Given the description of an element on the screen output the (x, y) to click on. 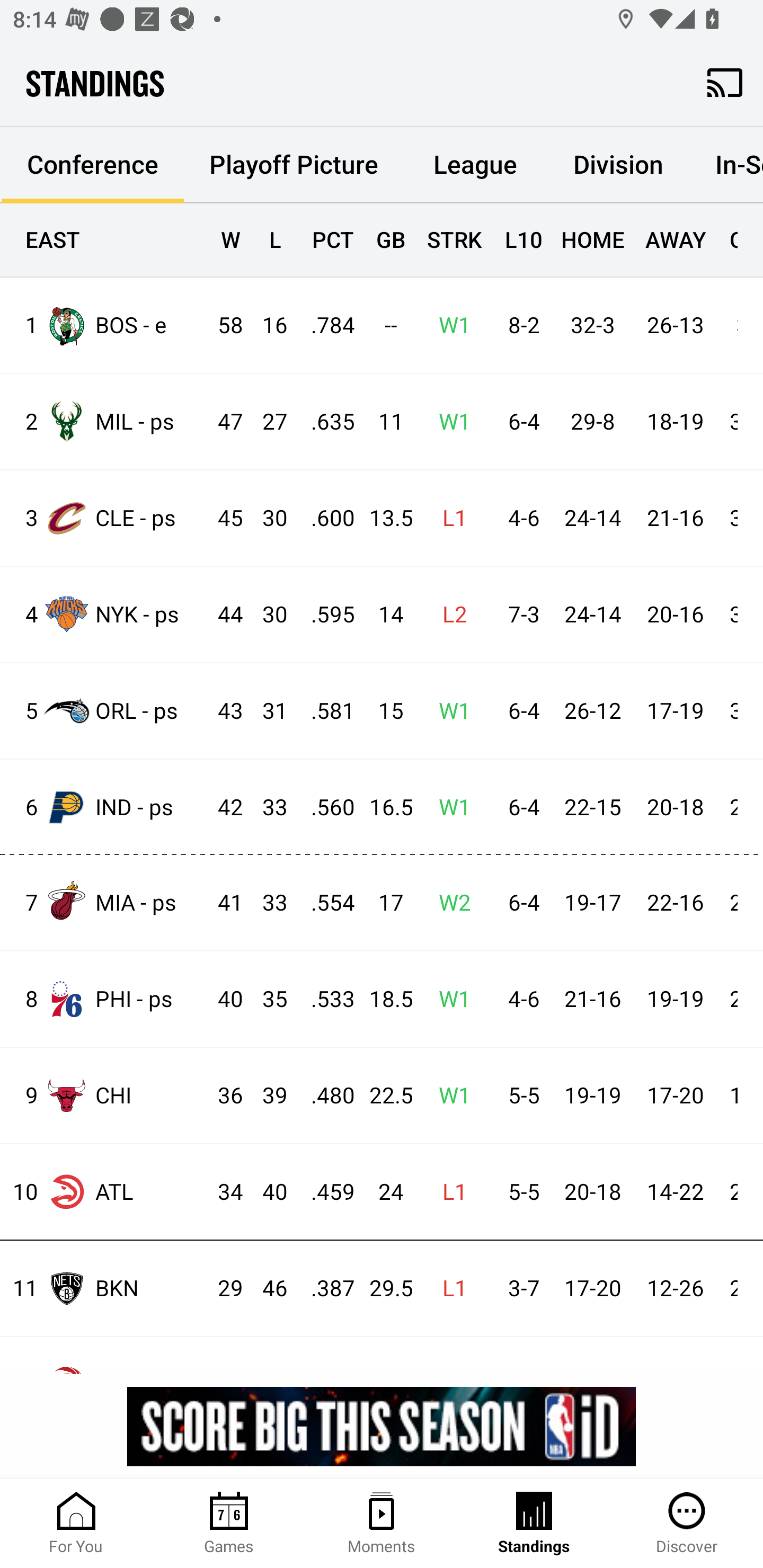
Cast. Disconnected (724, 82)
Playoff Picture (293, 165)
League (475, 165)
Division (618, 165)
1 BOS - e (104, 325)
16 (265, 324)
.784 (323, 324)
-- (382, 324)
W1 (449, 324)
8-2 (518, 324)
32-3 (592, 324)
26-13 (675, 324)
2 MIL - ps (104, 421)
27 (265, 422)
.635 (323, 422)
11 (382, 422)
W1 (449, 422)
6-4 (518, 422)
29-8 (592, 422)
18-19 (675, 422)
3 CLE - ps (104, 518)
30 (265, 517)
.600 (323, 517)
13.5 (382, 517)
L1 (449, 517)
4-6 (518, 517)
24-14 (592, 517)
21-16 (675, 517)
4 NYK - ps (104, 613)
30 (265, 615)
.595 (323, 615)
14 (382, 615)
L2 (449, 615)
7-3 (518, 615)
24-14 (592, 615)
20-16 (675, 615)
5 ORL - ps (104, 710)
31 (265, 710)
.581 (323, 710)
15 (382, 710)
W1 (449, 710)
6-4 (518, 710)
26-12 (592, 710)
17-19 (675, 710)
6 IND - ps (104, 806)
33 (265, 807)
.560 (323, 807)
16.5 (382, 807)
W1 (449, 807)
6-4 (518, 807)
22-15 (592, 807)
20-18 (675, 807)
7 MIA - ps (104, 902)
33 (265, 902)
.554 (323, 902)
17 (382, 902)
W2 (449, 902)
6-4 (518, 902)
19-17 (592, 902)
22-16 (675, 902)
8 PHI - ps (104, 999)
35 (265, 999)
.533 (323, 999)
18.5 (382, 999)
W1 (449, 999)
4-6 (518, 999)
21-16 (592, 999)
19-19 (675, 999)
9 CHI (104, 1095)
39 (265, 1095)
.480 (323, 1095)
22.5 (382, 1095)
W1 (449, 1095)
5-5 (518, 1095)
19-19 (592, 1095)
17-20 (675, 1095)
10 ATL (104, 1192)
40 (265, 1192)
.459 (323, 1192)
24 (382, 1192)
L1 (449, 1192)
5-5 (518, 1192)
20-18 (592, 1192)
14-22 (675, 1192)
11 BKN (104, 1287)
46 (265, 1288)
.387 (323, 1288)
29.5 (382, 1288)
L1 (449, 1288)
3-7 (518, 1288)
17-20 (592, 1288)
12-26 (675, 1288)
g5nqqygr7owph (381, 1426)
For You (76, 1523)
Games (228, 1523)
Moments (381, 1523)
Discover (686, 1523)
